Given the description of an element on the screen output the (x, y) to click on. 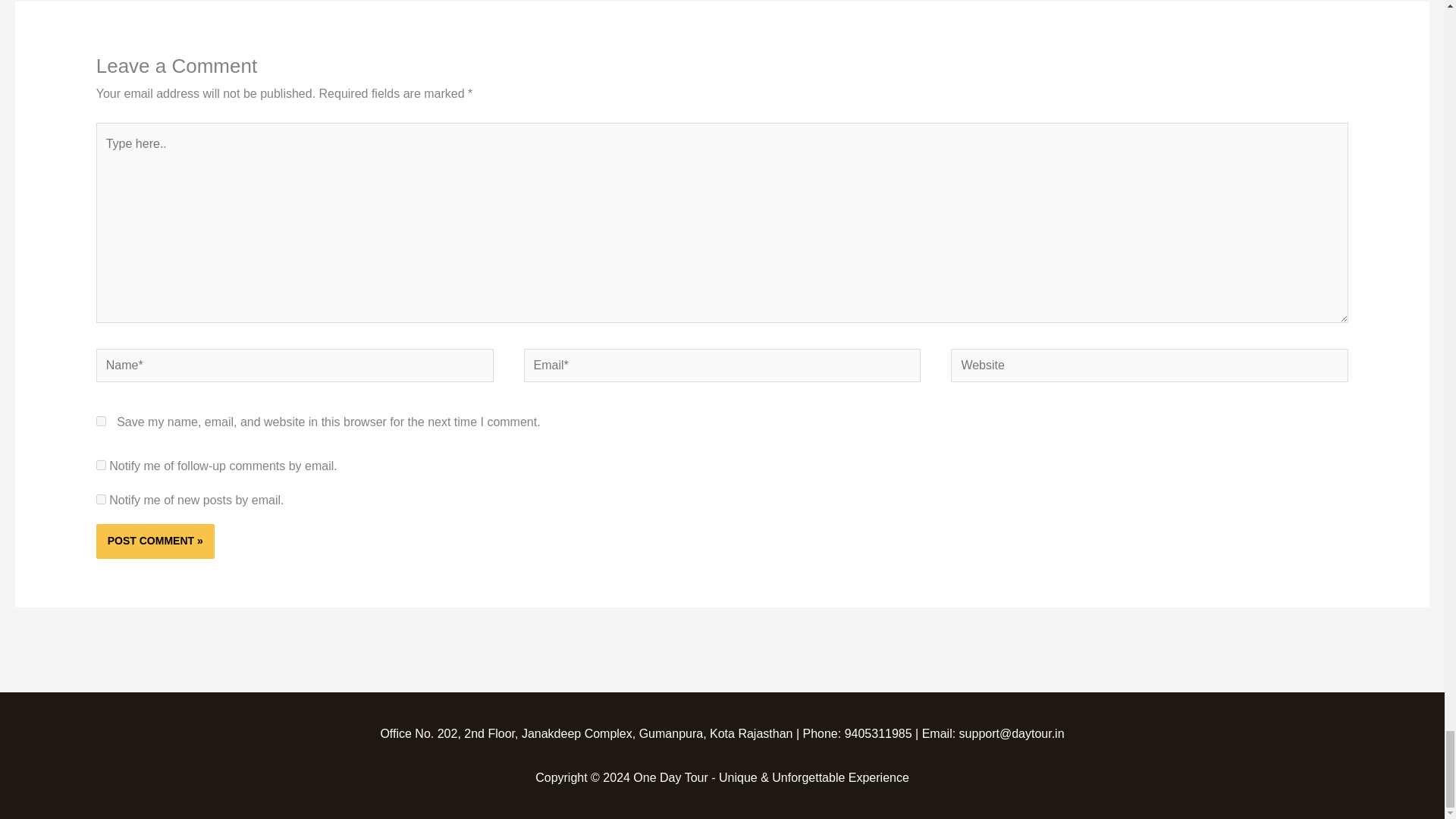
subscribe (101, 465)
subscribe (101, 499)
yes (101, 420)
